Given the description of an element on the screen output the (x, y) to click on. 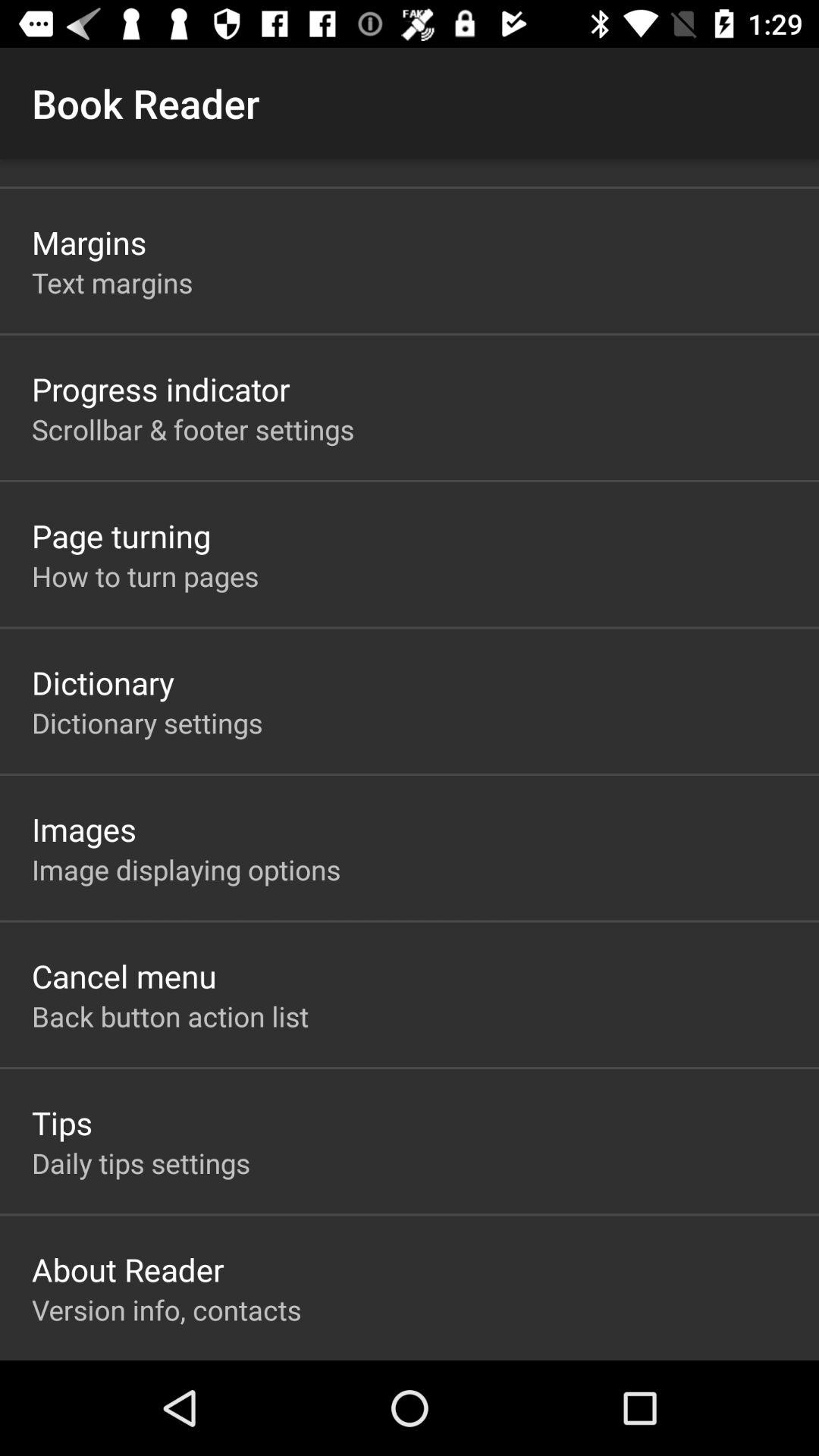
scroll to how to turn (144, 575)
